Given the description of an element on the screen output the (x, y) to click on. 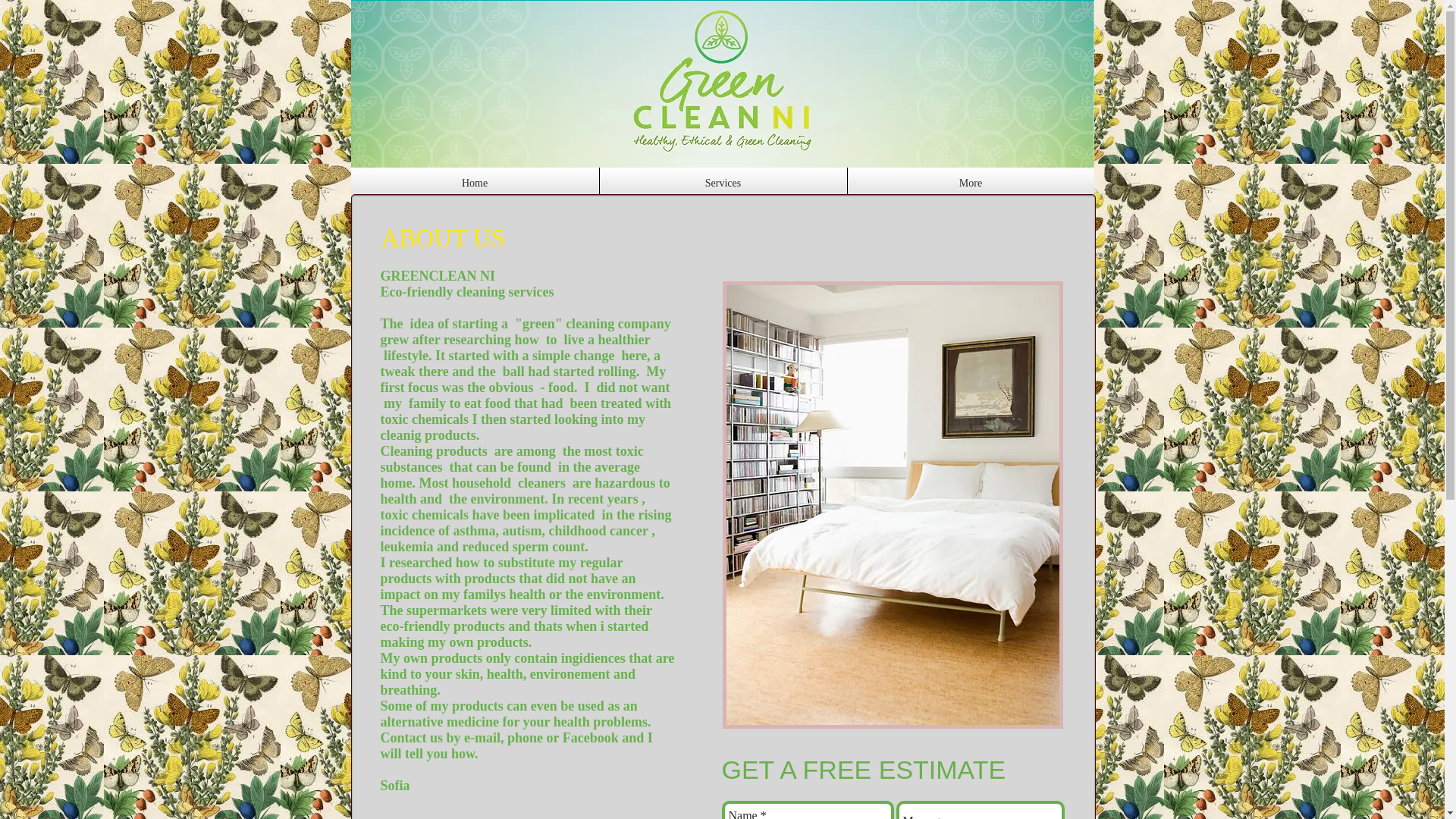
Services (721, 183)
Home (474, 183)
